Given the description of an element on the screen output the (x, y) to click on. 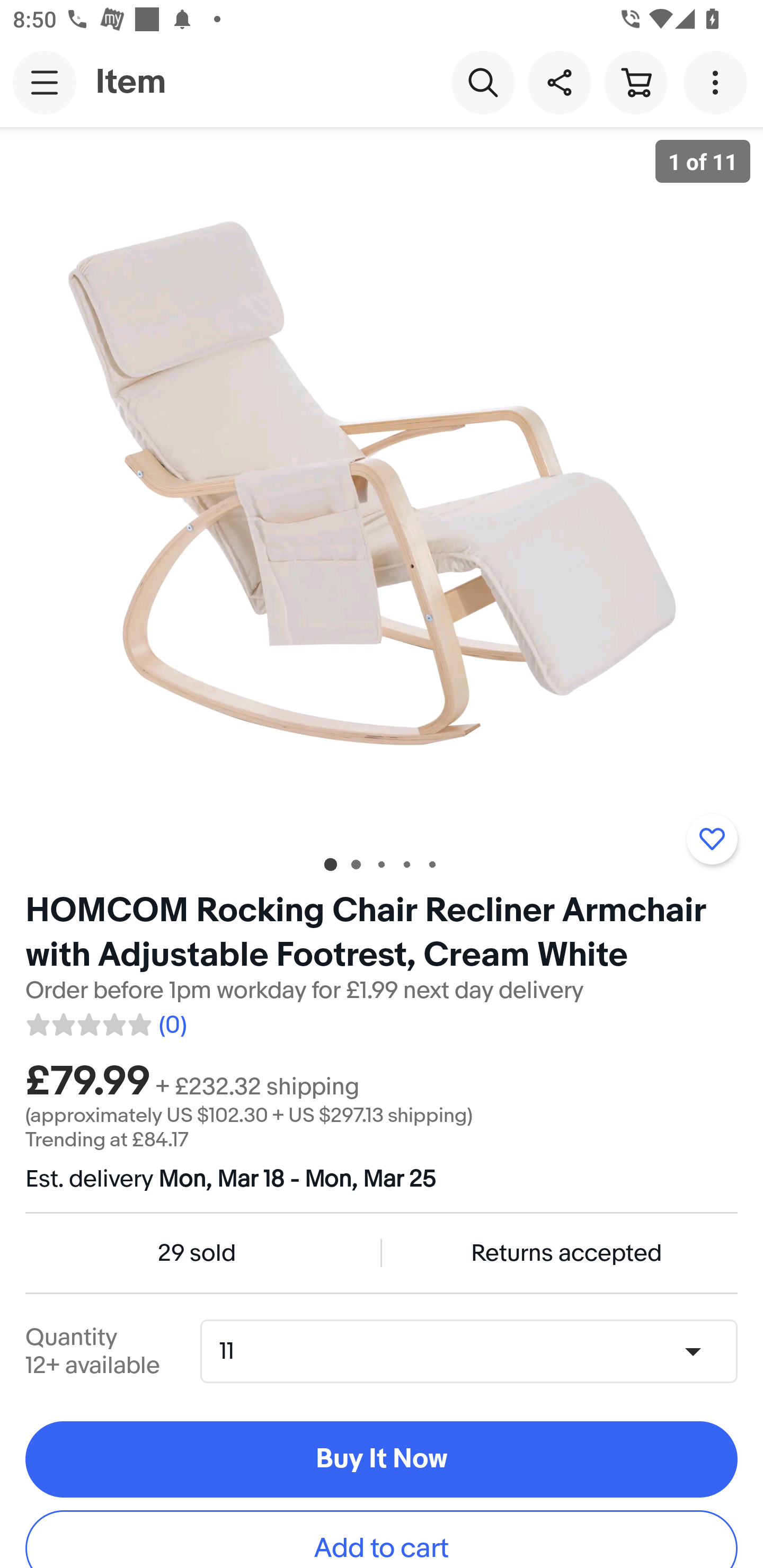
Main navigation, open (44, 82)
Search (482, 81)
Share this item (559, 81)
Cart button shopping cart (635, 81)
More options (718, 81)
Item image 1 of 11 (381, 482)
Add to watchlist (711, 838)
0 reviews. Average rating 0.0 out of five 0.0 (0) (105, 1021)
Quantity,11,12+ available 11 (474, 1351)
Buy It Now (381, 1458)
Add to cart (381, 1538)
